Given the description of an element on the screen output the (x, y) to click on. 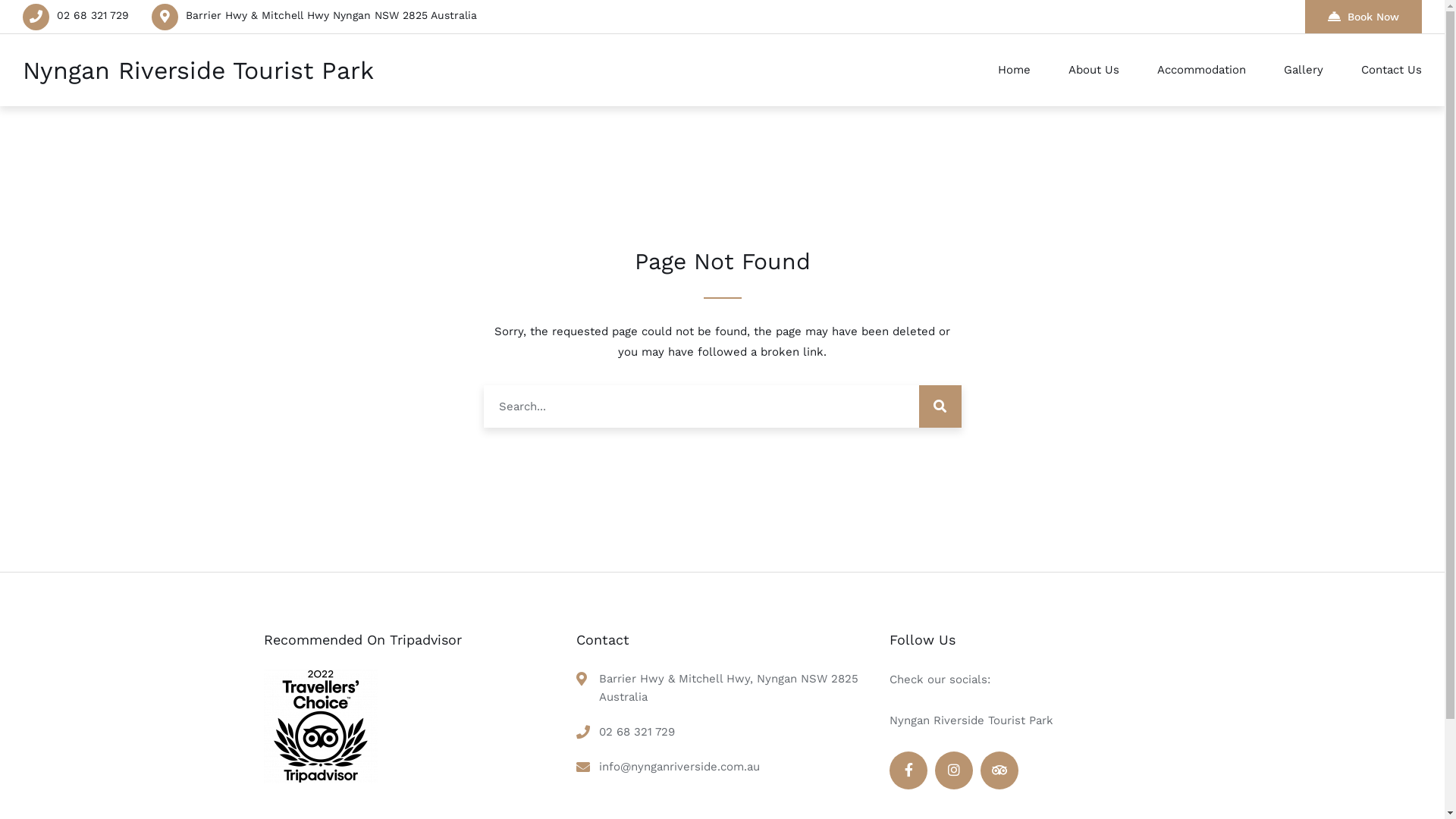
Home Element type: text (1014, 70)
02 68 321 729 Element type: text (92, 15)
info@nynganriverside.com.au Element type: text (679, 766)
Contact Us Element type: text (1381, 70)
About Us Element type: text (1093, 70)
Book Now Element type: text (1363, 16)
Gallery Element type: text (1303, 70)
Barrier Hwy & Mitchell Hwy Nyngan NSW 2825 Australia Element type: text (330, 15)
Nyngan Riverside Tourist Park Element type: text (197, 70)
Accommodation Element type: text (1201, 70)
02 68 321 729 Element type: text (636, 731)
